Given the description of an element on the screen output the (x, y) to click on. 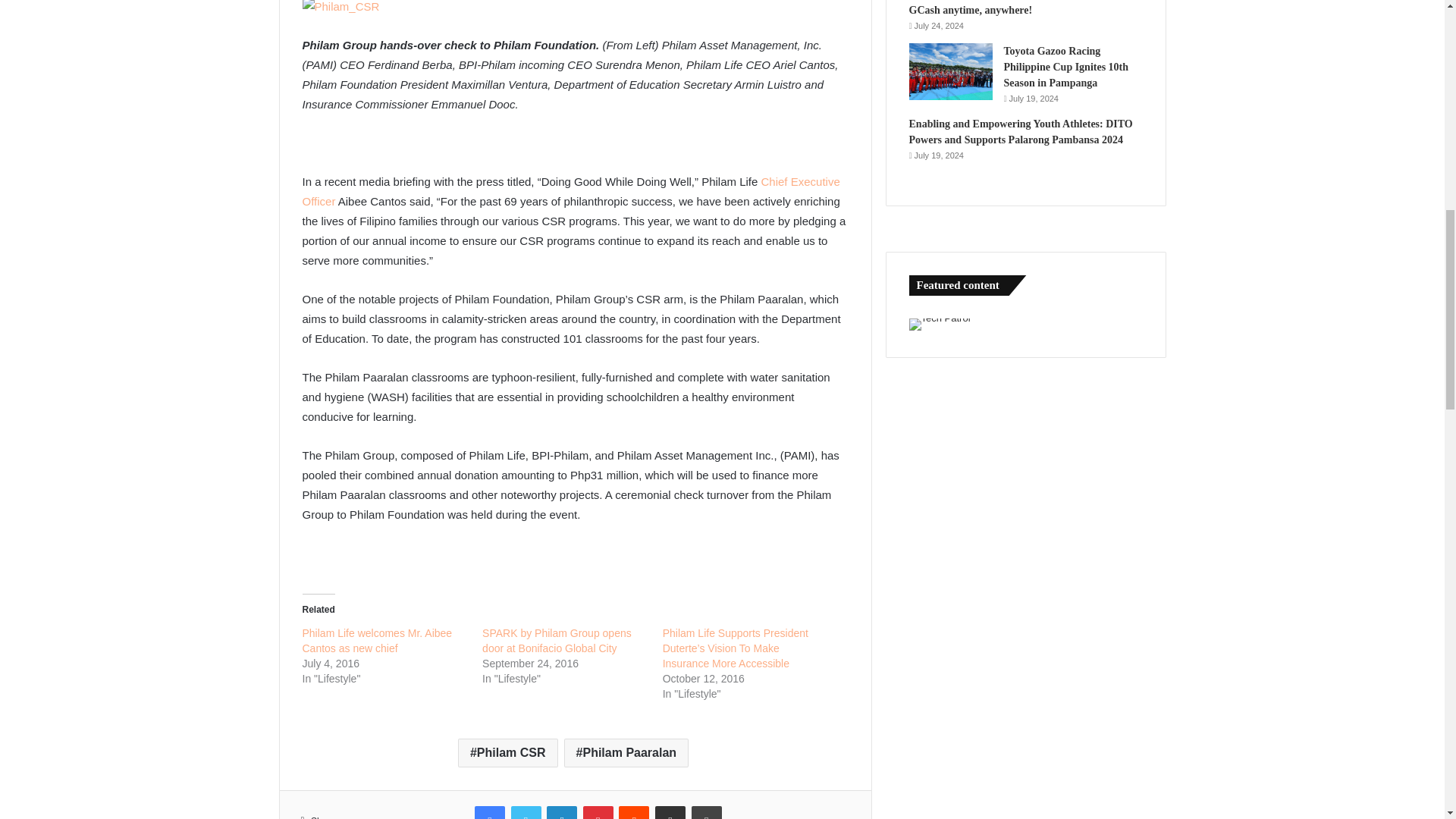
Chief Executive Officer (570, 191)
Pinterest (597, 812)
Share via Email (670, 812)
Philam Life welcomes Mr. Aibee Cantos as new chief (376, 640)
Philam Paaralan (626, 752)
SPARK by Philam Group opens door at Bonifacio Global City (556, 640)
Print (706, 812)
Philam Life welcomes Mr. Aibee Cantos as new chief (376, 640)
Reddit (633, 812)
LinkedIn (561, 812)
Twitter (526, 812)
Facebook (489, 812)
SPARK by Philam Group opens door at Bonifacio Global City (556, 640)
Philam CSR (507, 752)
